Given the description of an element on the screen output the (x, y) to click on. 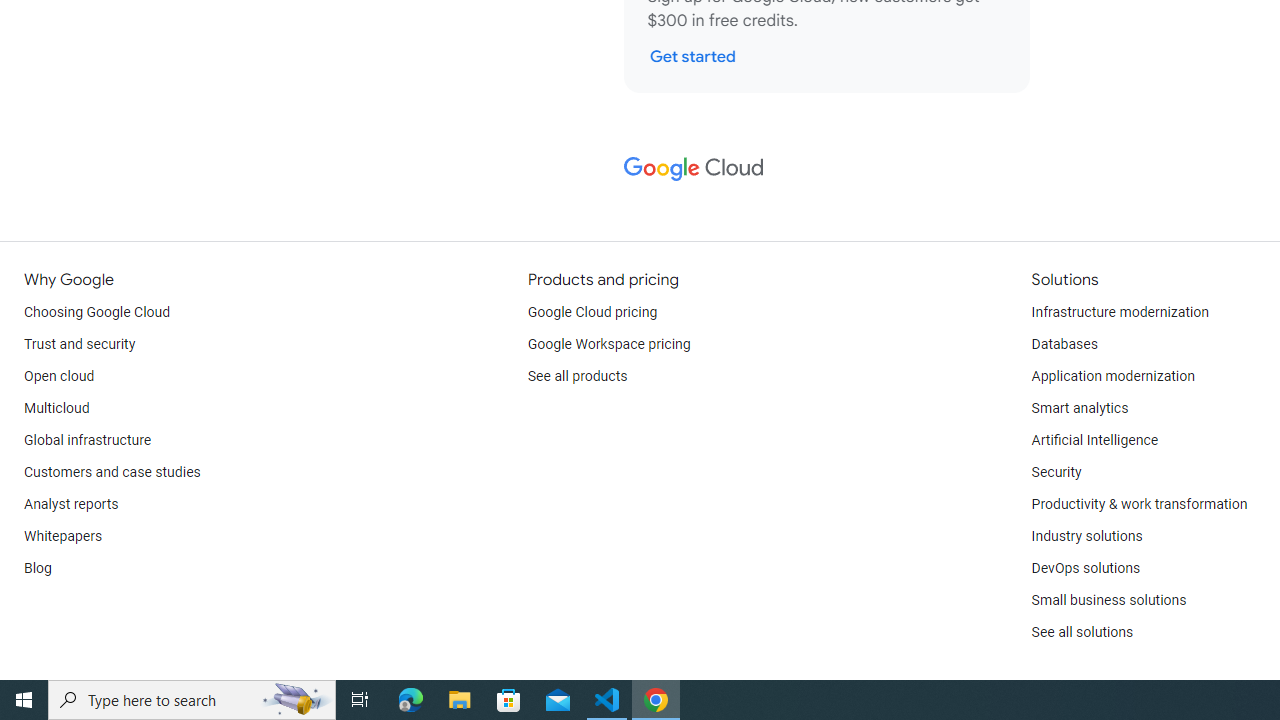
Small business solutions (1108, 600)
Smart analytics (1079, 408)
Open cloud (59, 376)
DevOps solutions (1085, 568)
Blog (38, 568)
Multicloud (56, 408)
Application modernization (1112, 376)
Databases (1064, 344)
Analyst reports (71, 504)
Whitepapers (63, 536)
Security (1055, 472)
